Given the description of an element on the screen output the (x, y) to click on. 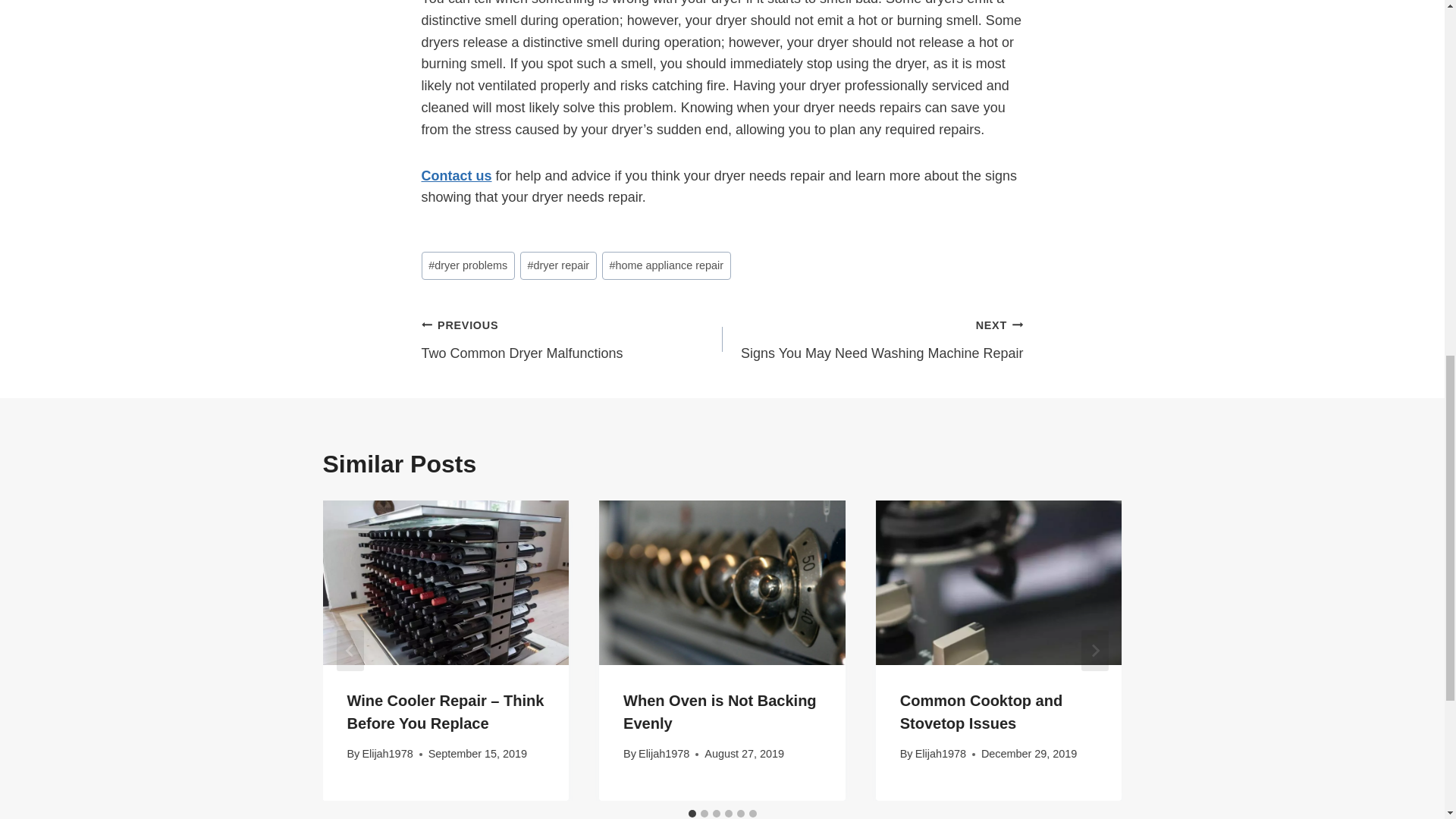
dryer repair (557, 265)
dryer problems (468, 265)
home appliance repair (666, 265)
